Given the description of an element on the screen output the (x, y) to click on. 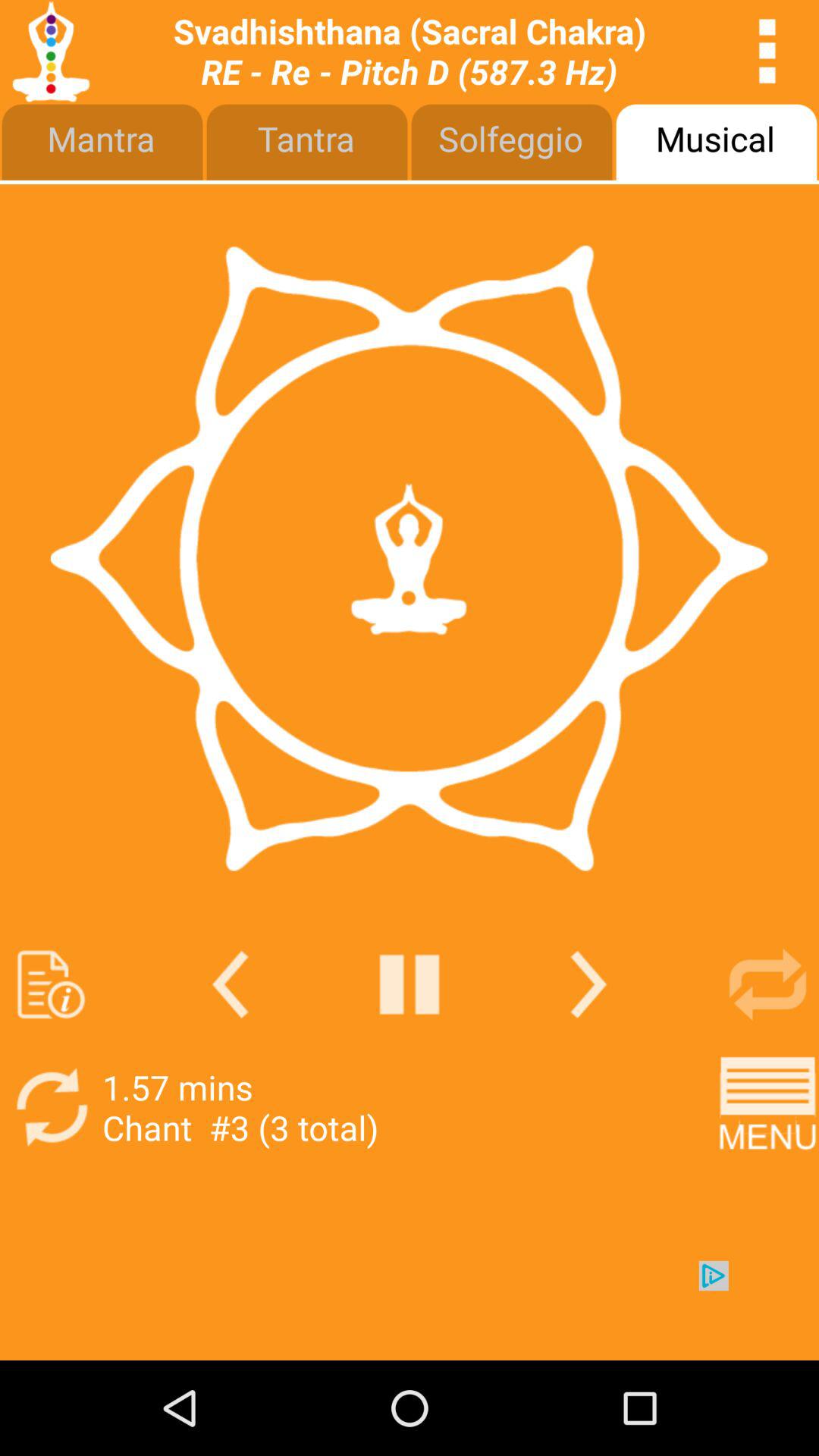
rotate option (51, 1107)
